Given the description of an element on the screen output the (x, y) to click on. 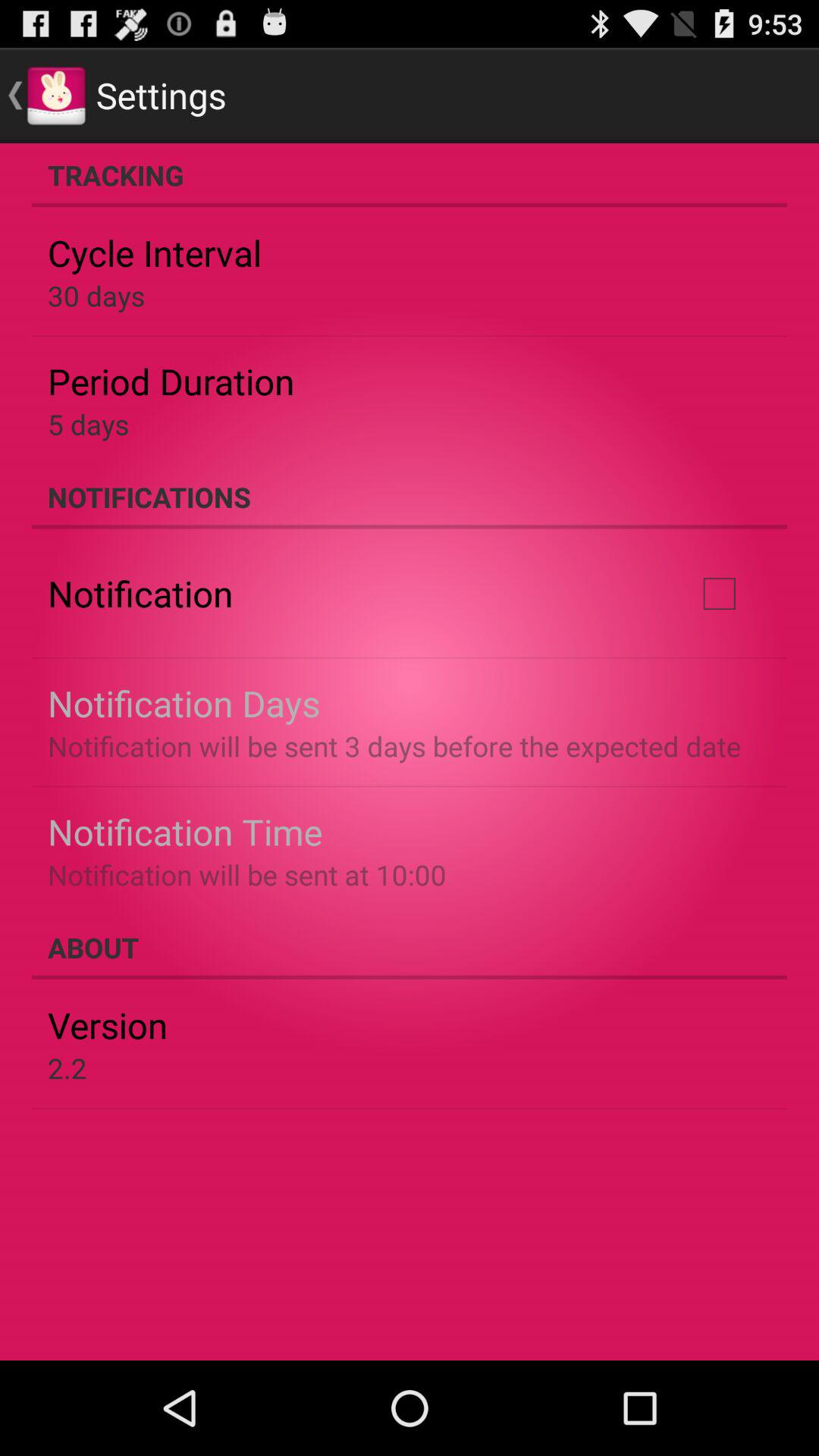
choose app below version icon (67, 1067)
